Given the description of an element on the screen output the (x, y) to click on. 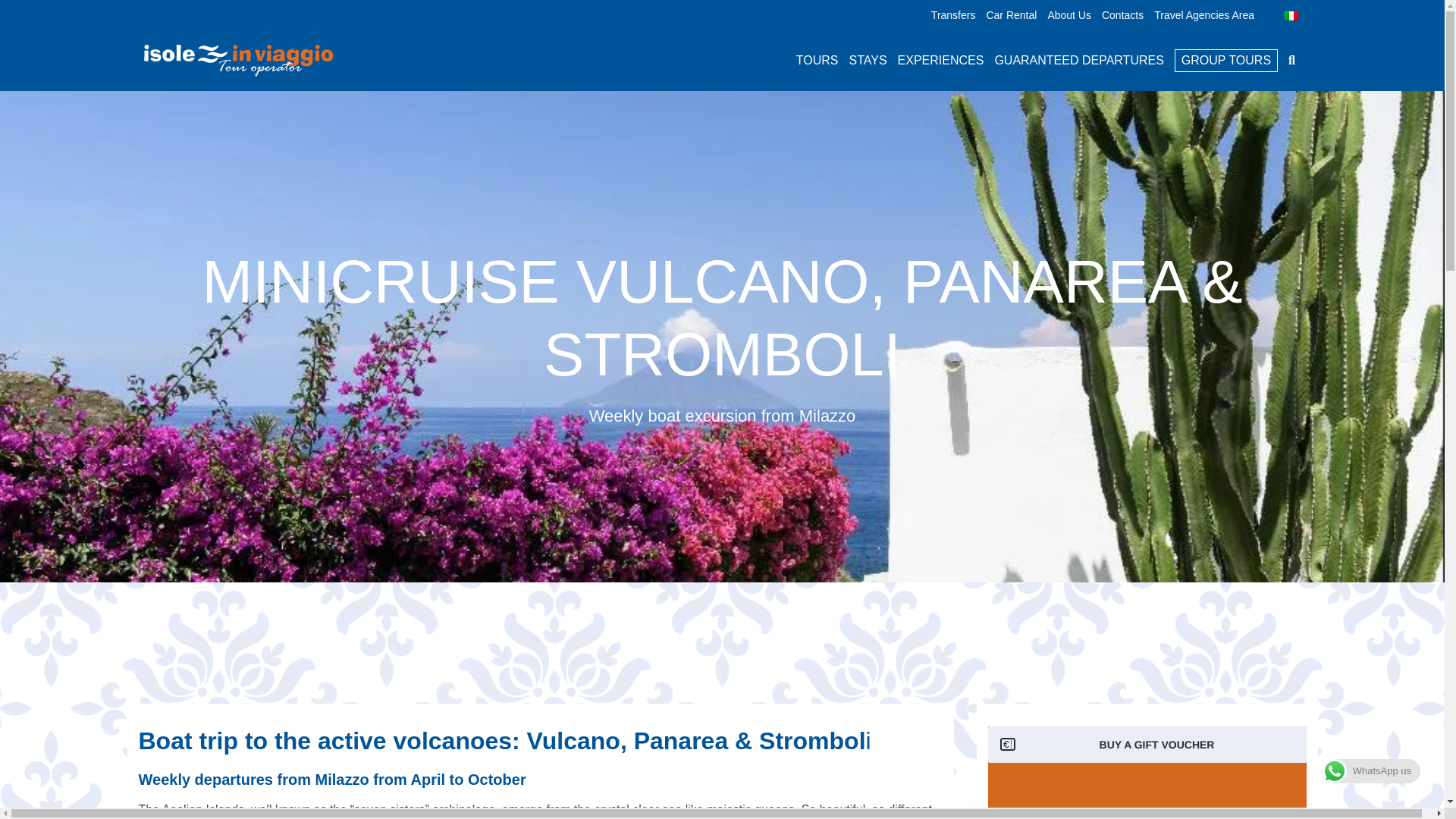
Contacts (1122, 15)
STAYS (867, 60)
EXPERIENCES (941, 60)
About Us (1068, 15)
GUARANTEED DEPARTURES (1078, 60)
Organized Tours in Sicily (817, 60)
Experiences in Sicily (941, 60)
BUY A GIFT VOUCHER (1146, 744)
Travel Agencies Area (1203, 15)
GROUP TOURS (1226, 60)
Transfers (953, 15)
Group Tours in Sicily (1226, 60)
TOURS (817, 60)
Car Rental (1010, 15)
IsoleInViaggio (238, 60)
